Given the description of an element on the screen output the (x, y) to click on. 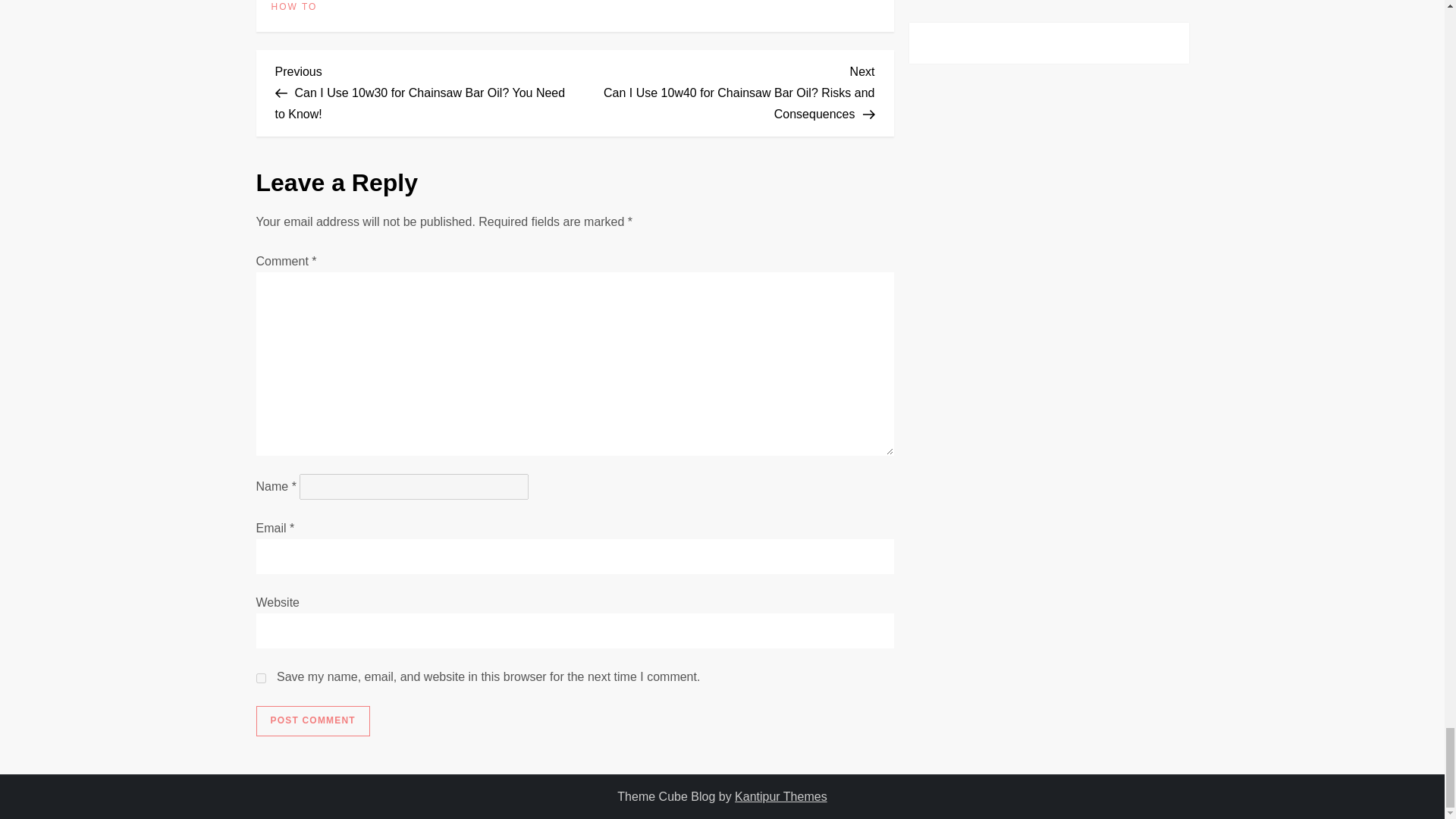
Kantipur Themes (781, 796)
HOW TO (293, 6)
Post Comment (312, 720)
yes (261, 678)
Post Comment (312, 720)
